Given the description of an element on the screen output the (x, y) to click on. 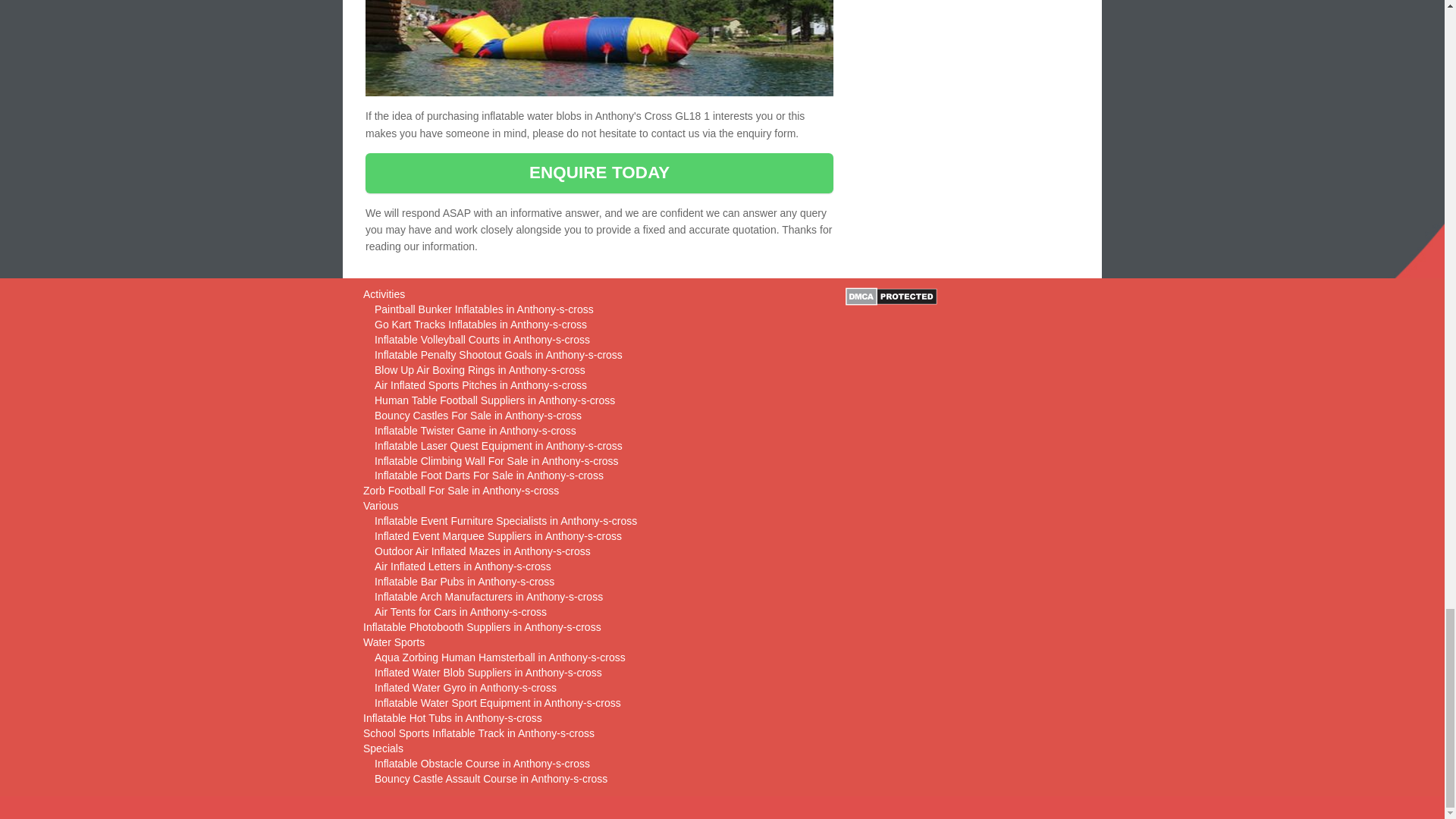
DMCA.com Protection Status (891, 295)
Water Blob (598, 48)
